Given the description of an element on the screen output the (x, y) to click on. 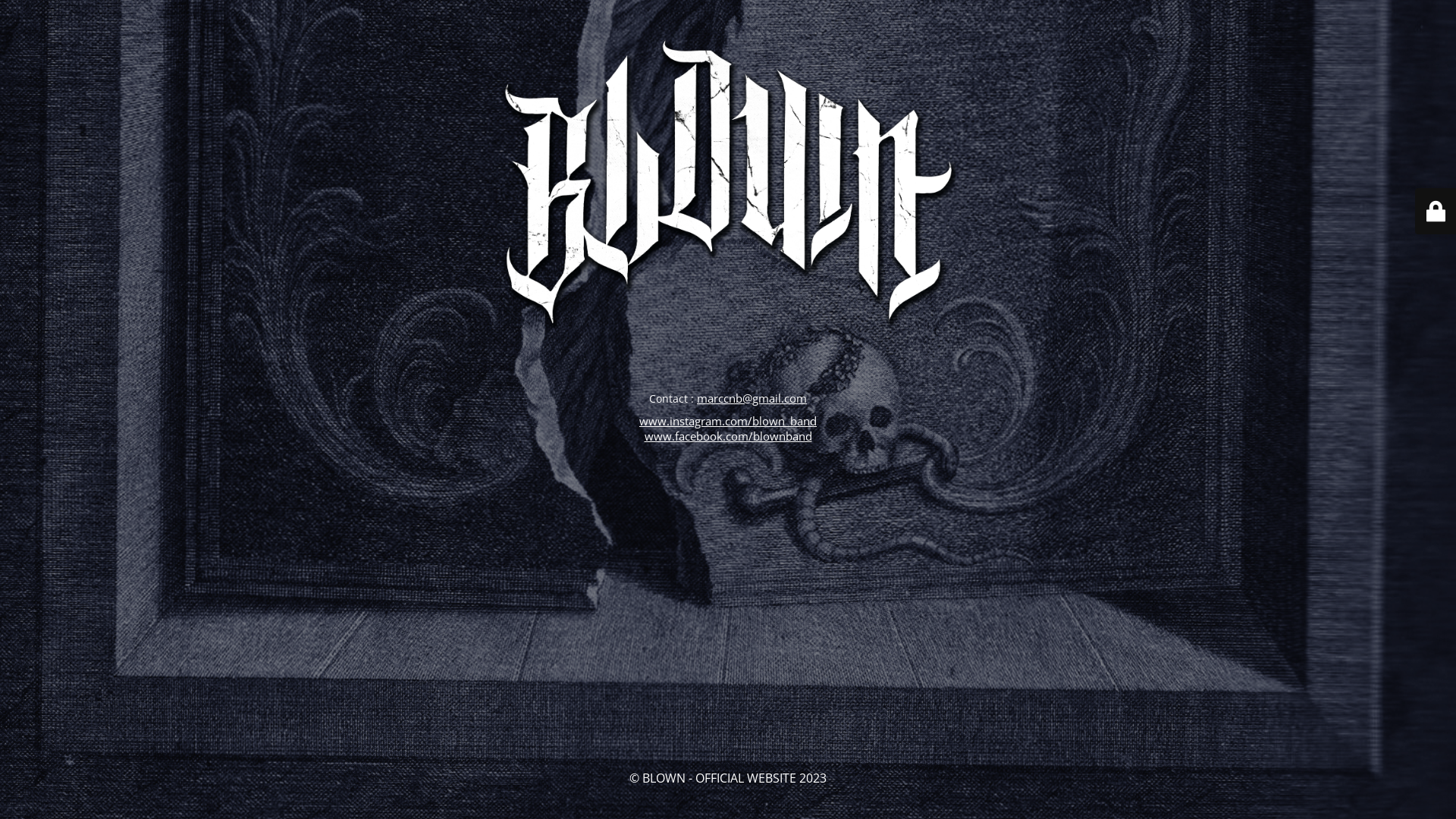
marccnb@gmail.com Element type: text (751, 396)
www.facebook.com/blownband Element type: text (728, 434)
www.instagram.com/blown_band Element type: text (727, 419)
